Given the description of an element on the screen output the (x, y) to click on. 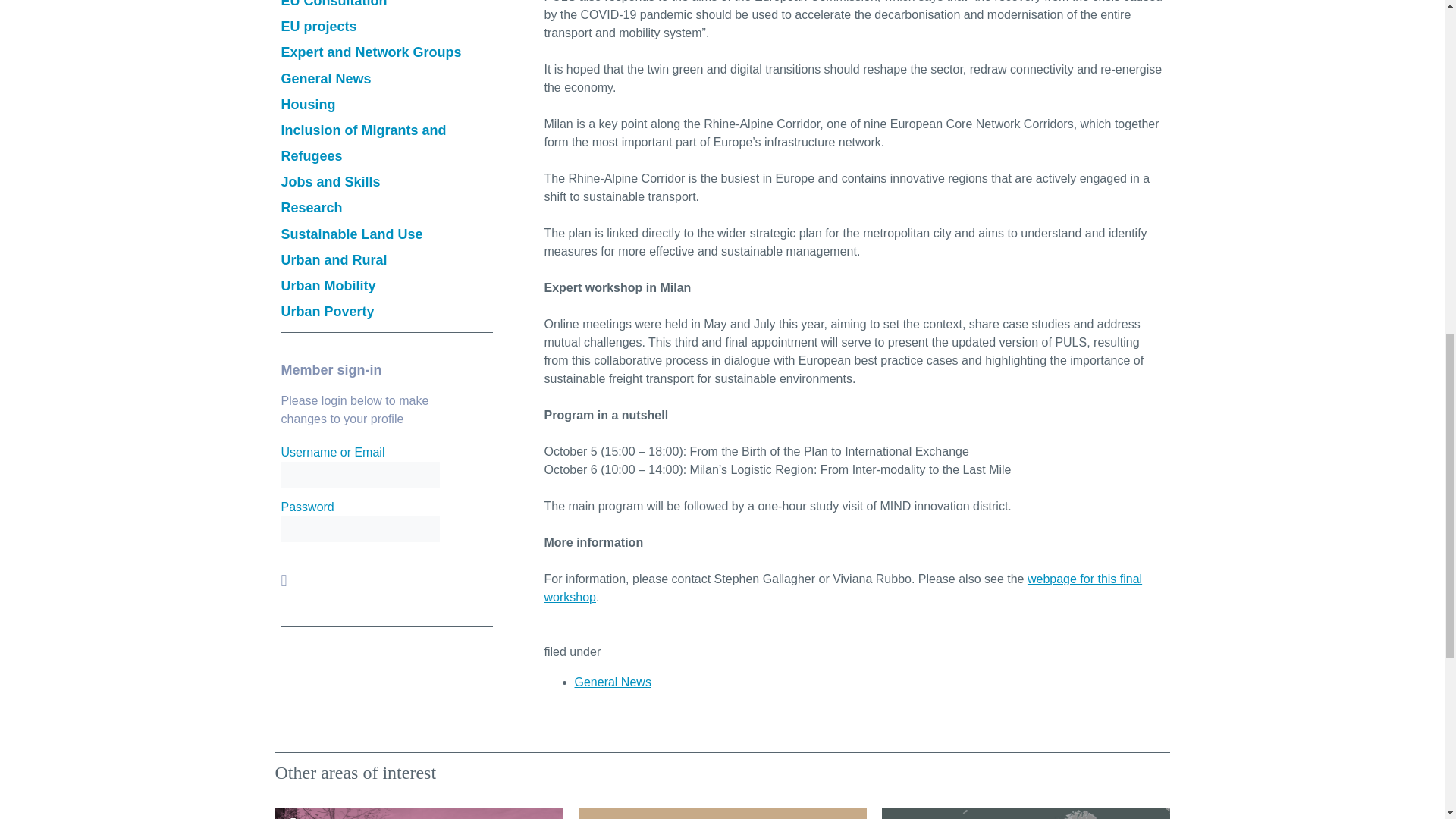
EU projects (318, 26)
Expert and Network Groups (371, 52)
Inclusion of Migrants and Refugees (363, 142)
Urban and Rural (334, 259)
Sustainable Land Use (351, 233)
Housing (307, 104)
Urban Poverty (327, 311)
General News (612, 681)
EU Consultation (334, 4)
Research (311, 207)
